Given the description of an element on the screen output the (x, y) to click on. 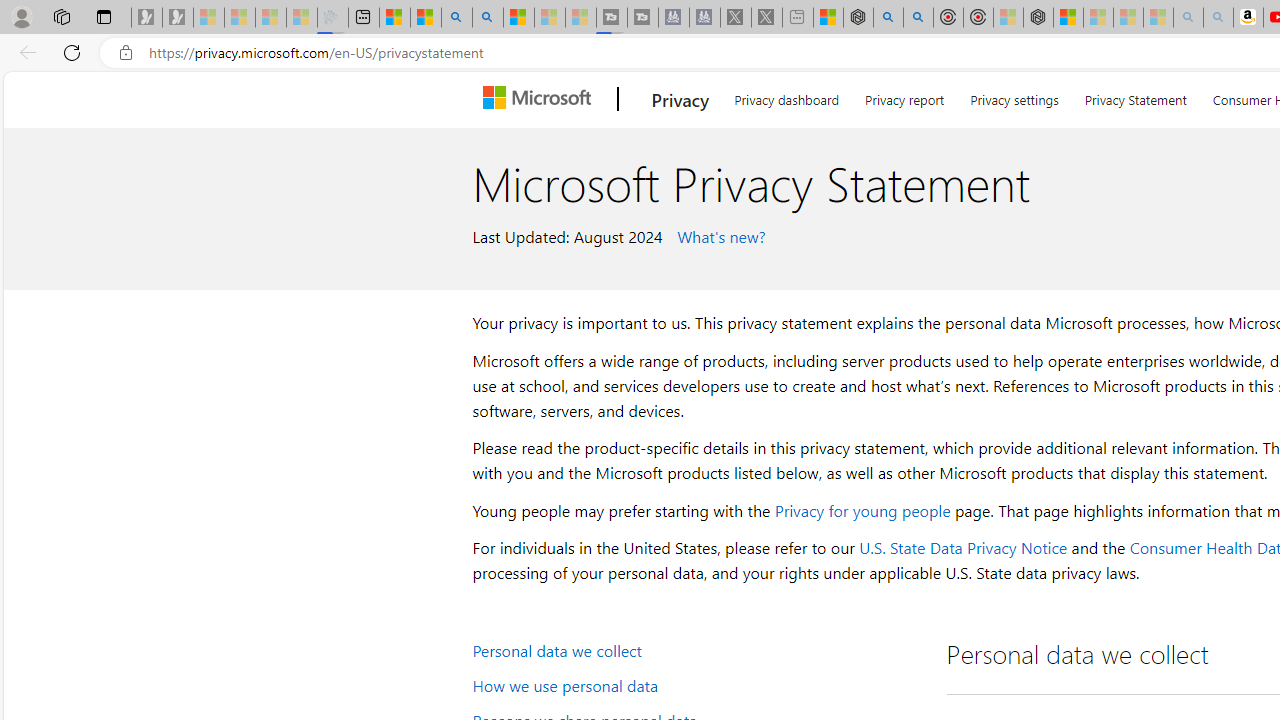
Privacy report (904, 96)
How we use personal data (696, 684)
Privacy Statement (1135, 96)
